Given the description of an element on the screen output the (x, y) to click on. 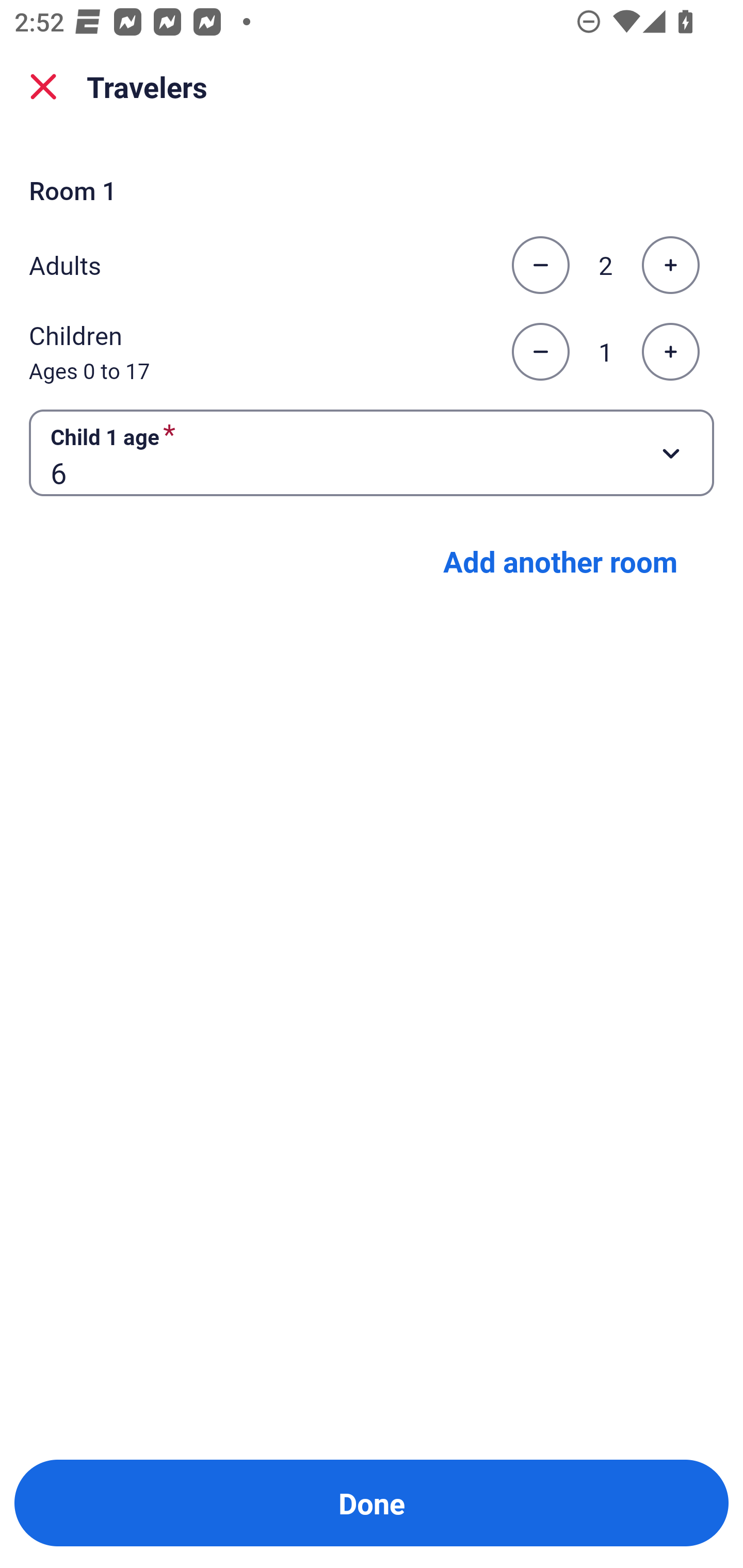
close (43, 86)
Decrease the number of adults (540, 264)
Increase the number of adults (670, 264)
Decrease the number of children (540, 351)
Increase the number of children (670, 351)
Child 1 age required Button 6 (371, 452)
Add another room (560, 561)
Done (371, 1502)
